Given the description of an element on the screen output the (x, y) to click on. 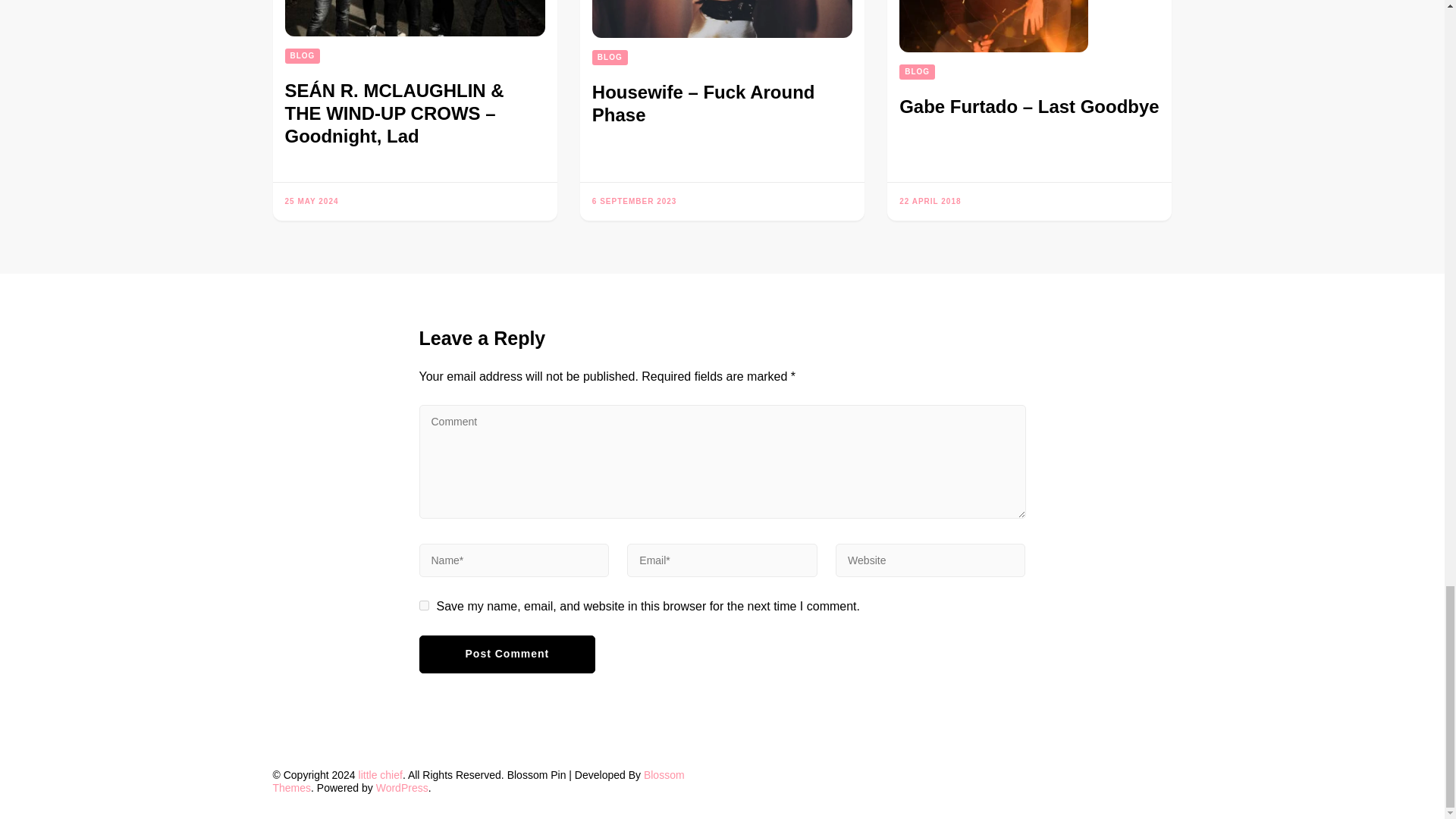
25 MAY 2024 (312, 201)
BLOG (302, 55)
6 SEPTEMBER 2023 (634, 201)
yes (423, 605)
BLOG (609, 57)
Post Comment (507, 654)
